Given the description of an element on the screen output the (x, y) to click on. 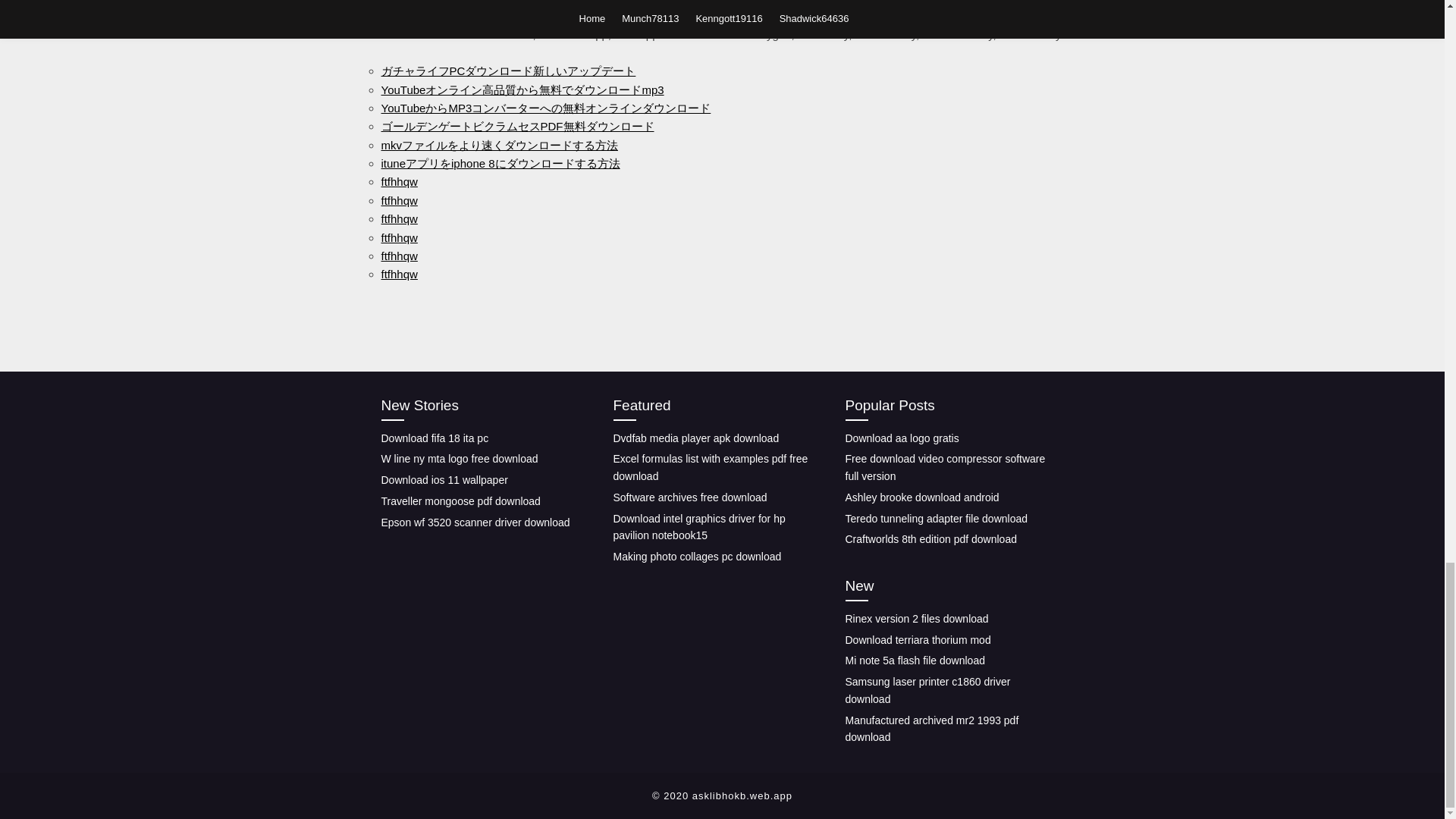
ftfhhqw (398, 273)
Download intel graphics driver for hp pavilion notebook15 (698, 527)
ftfhhqw (398, 236)
Craftworlds 8th edition pdf download (930, 539)
Download fifa 18 ita pc (433, 438)
Teredo tunneling adapter file download (935, 518)
W line ny mta logo free download (458, 458)
Making photo collages pc download (696, 556)
Download terriara thorium mod (917, 639)
Rinex version 2 files download (916, 618)
